Given the description of an element on the screen output the (x, y) to click on. 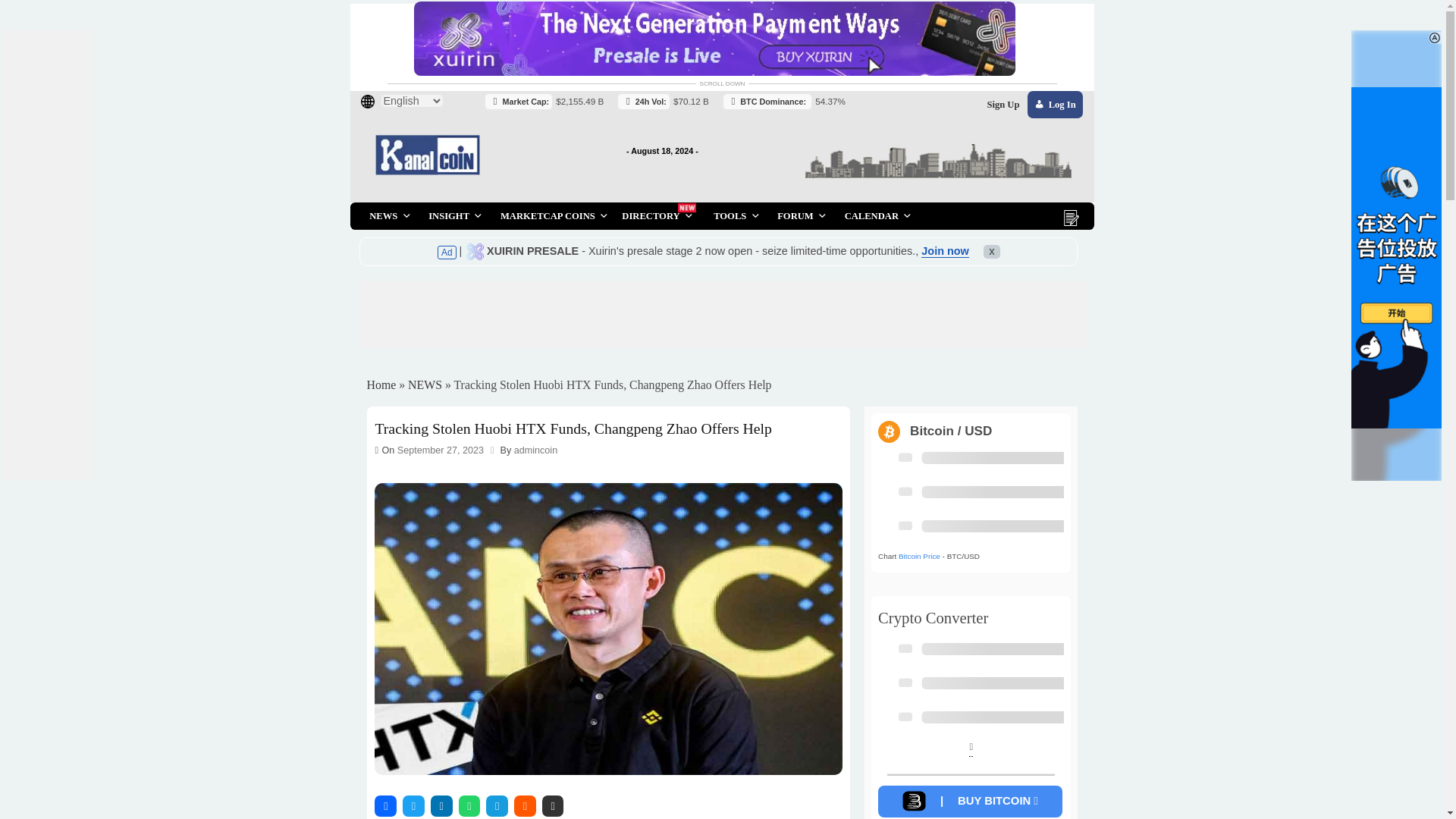
Loading... (1078, 583)
Loading... (1078, 507)
Loading... (1078, 719)
Advertisement (730, 318)
Log In (1172, 115)
Loading... (1078, 757)
Loading... (1078, 544)
Sign Up (1114, 115)
Loading... (1078, 795)
